Given the description of an element on the screen output the (x, y) to click on. 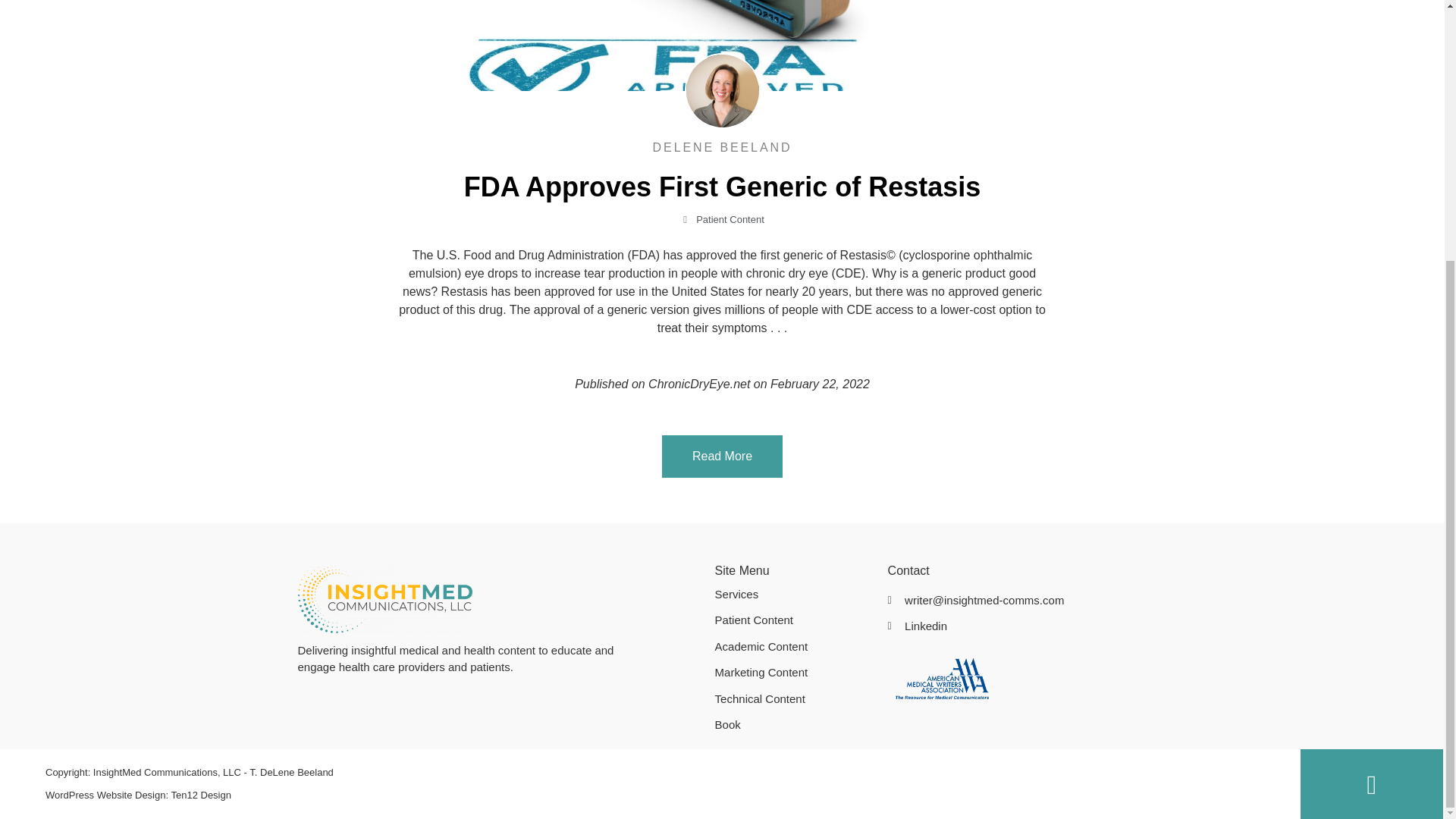
Book (793, 724)
Marketing Content (793, 672)
WordPress Website Design: Ten12 Design (665, 795)
iStock 931409422 (722, 45)
Services (793, 594)
Technical Content (793, 699)
Academic Content (793, 647)
Patient Content (729, 219)
Linkedin (1016, 626)
Patient Content (793, 620)
Read More (722, 455)
